Given the description of an element on the screen output the (x, y) to click on. 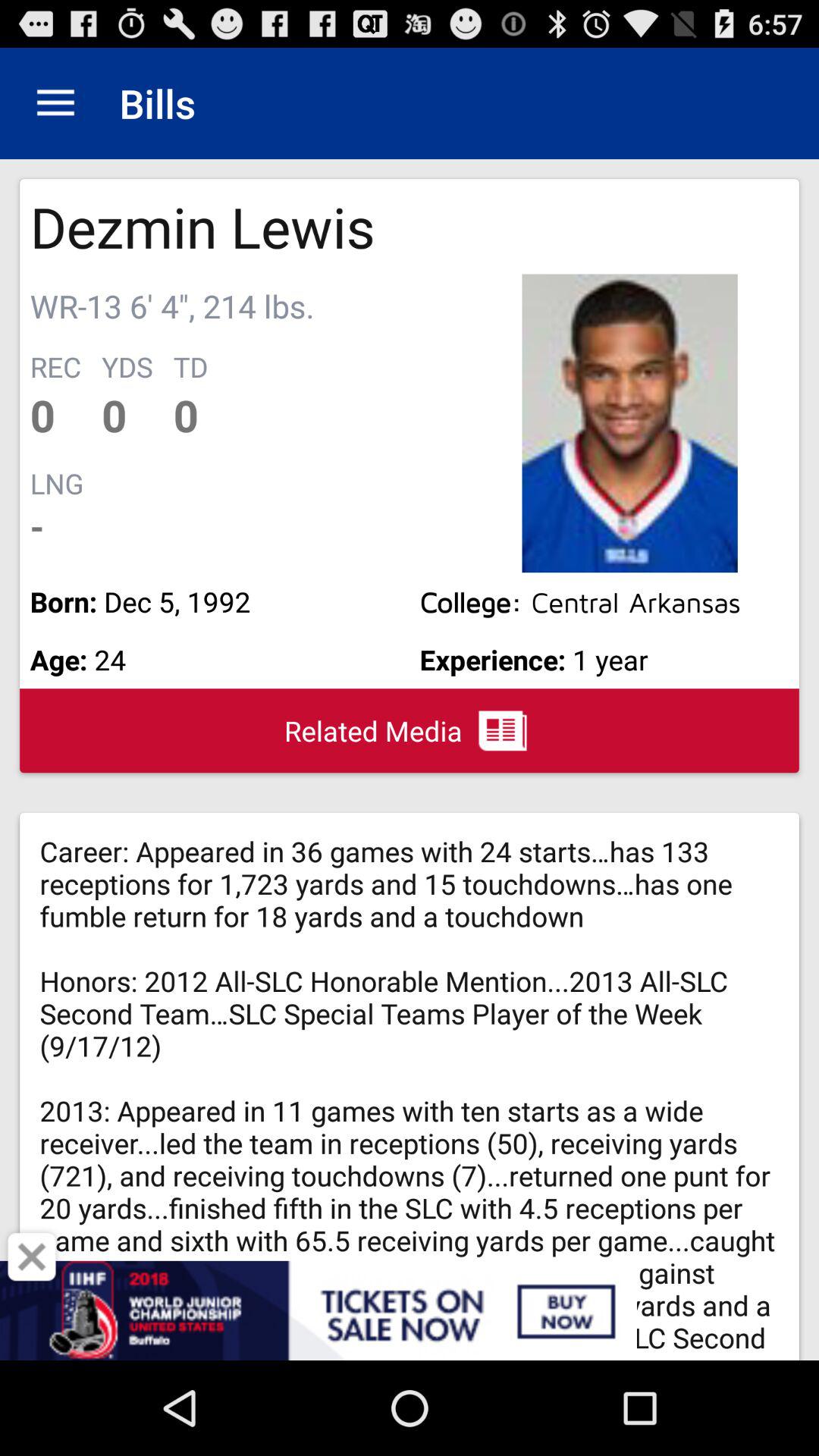
choose the item above career appeared in icon (409, 730)
